Given the description of an element on the screen output the (x, y) to click on. 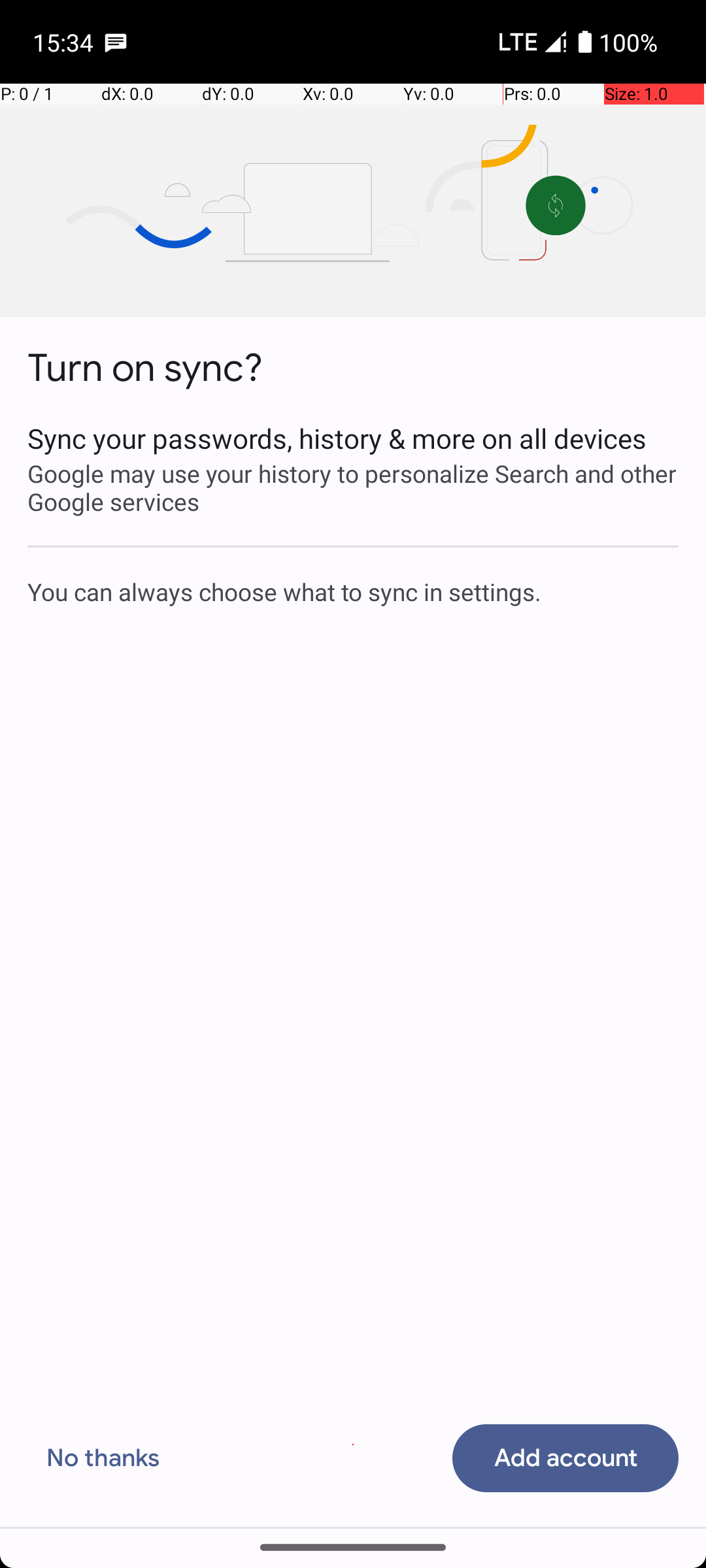
No thanks Element type: android.widget.Button (102, 1458)
Add account Element type: android.widget.Button (565, 1458)
Turn on sync? Element type: android.widget.TextView (144, 368)
Sync your passwords, history & more on all devices Element type: android.widget.TextView (352, 437)
Google may use your history to personalize Search and other Google services Element type: android.widget.TextView (352, 487)
You can always choose what to sync in settings. Element type: android.widget.TextView (352, 591)
